Given the description of an element on the screen output the (x, y) to click on. 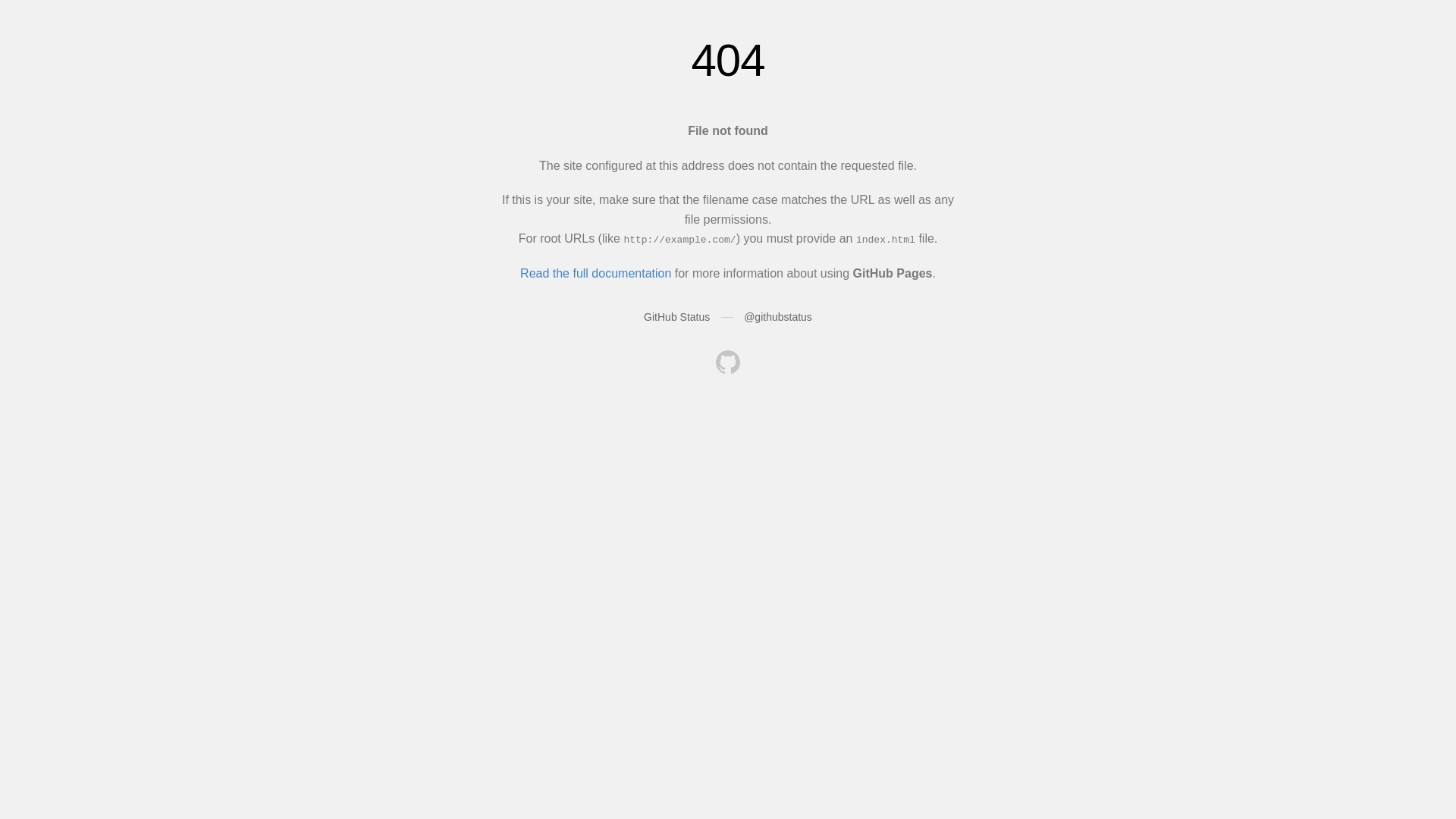
Read the full documentation Element type: text (595, 272)
@githubstatus Element type: text (777, 316)
GitHub Status Element type: text (676, 316)
